Given the description of an element on the screen output the (x, y) to click on. 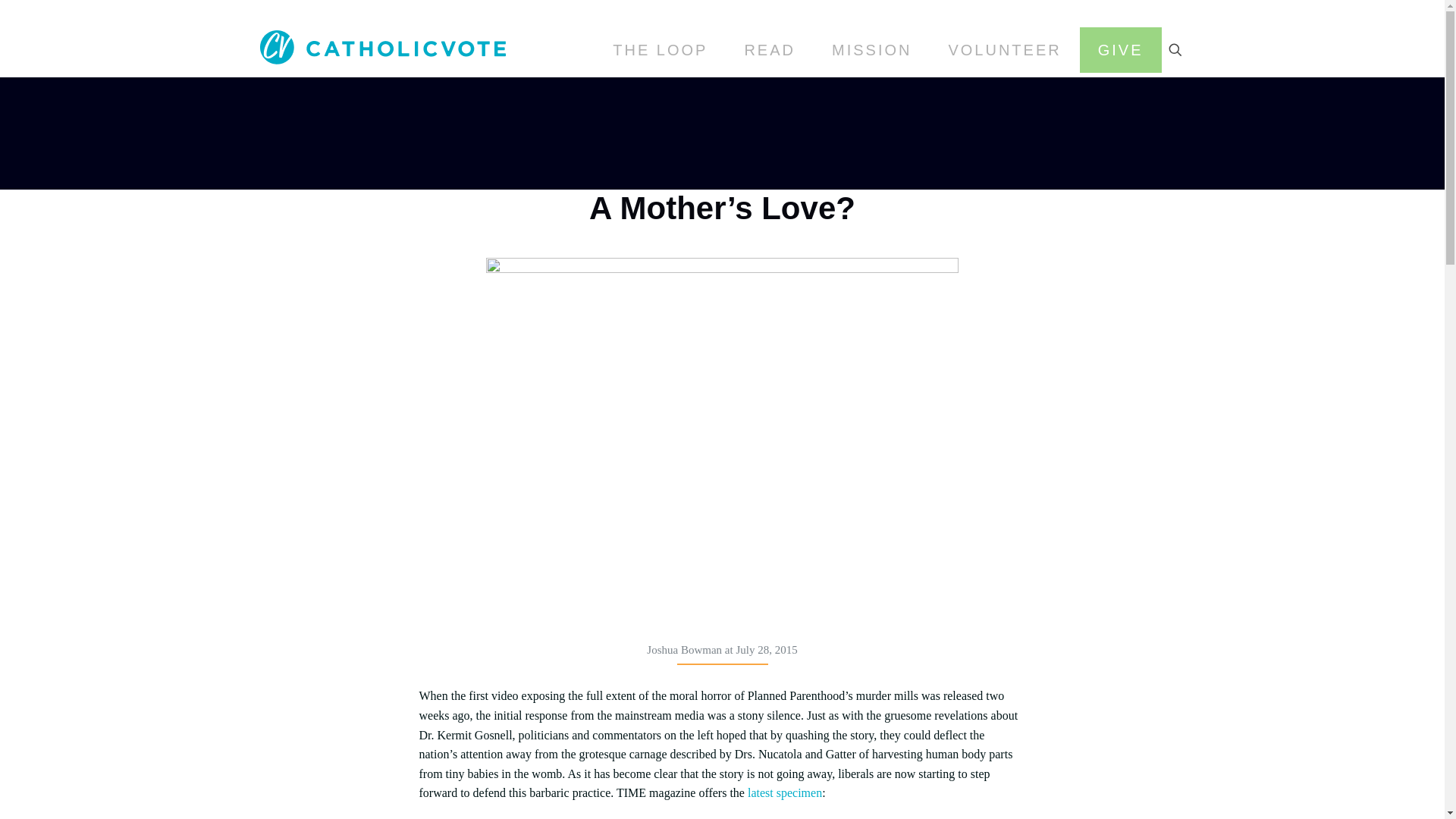
THE LOOP (659, 49)
GIVE (1120, 49)
Joshua Bowman (684, 649)
CatholicVote org (382, 45)
latest specimen (785, 792)
VOLUNTEER (1004, 49)
MISSION (871, 49)
READ (769, 49)
